Given the description of an element on the screen output the (x, y) to click on. 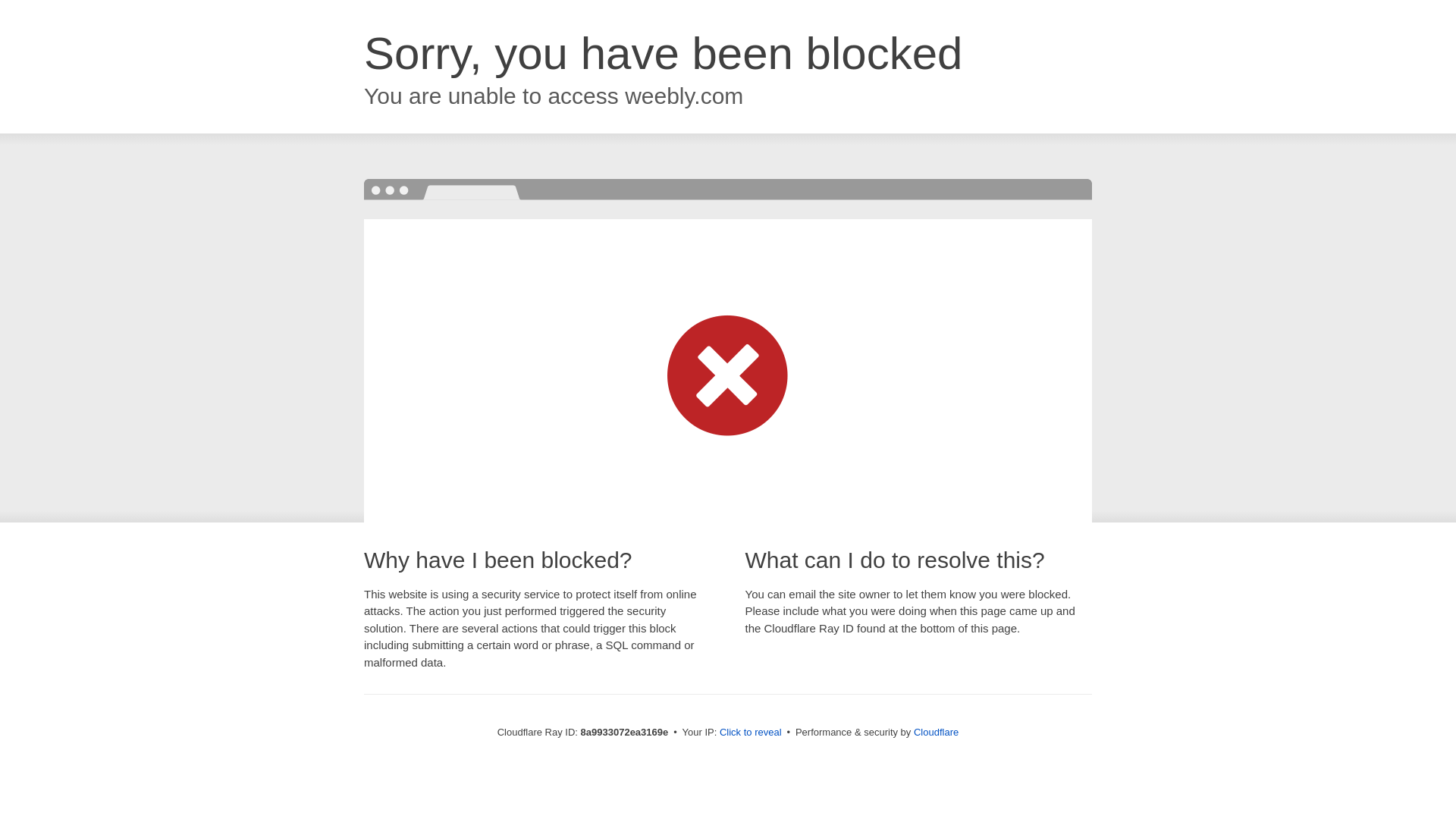
Cloudflare (936, 731)
Click to reveal (750, 732)
